Given the description of an element on the screen output the (x, y) to click on. 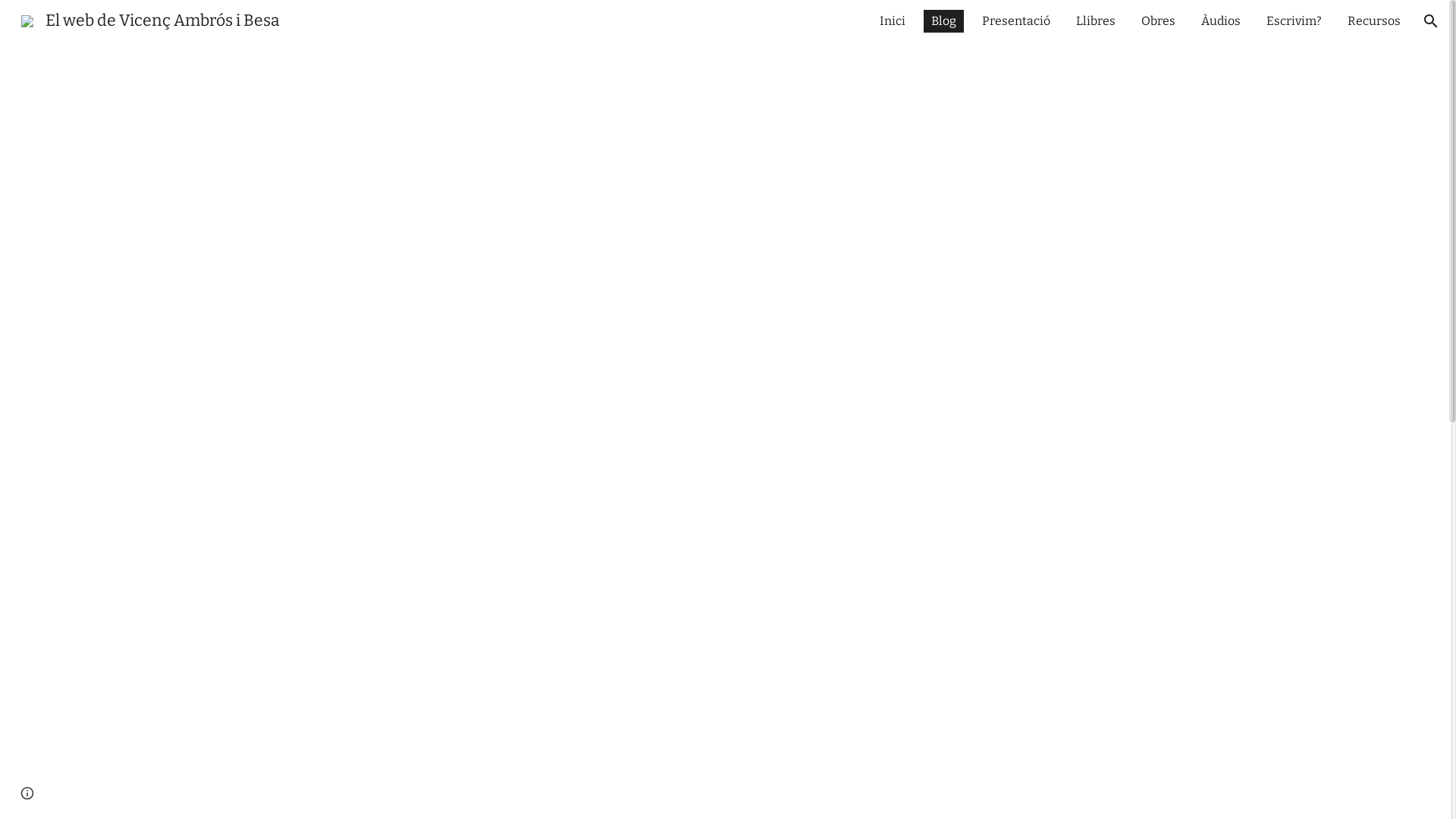
Inici Element type: text (892, 20)
Recursos Element type: text (1373, 20)
Obres Element type: text (1158, 20)
Llibres Element type: text (1095, 20)
Escrivim? Element type: text (1293, 20)
Blog Element type: text (943, 20)
